Given the description of an element on the screen output the (x, y) to click on. 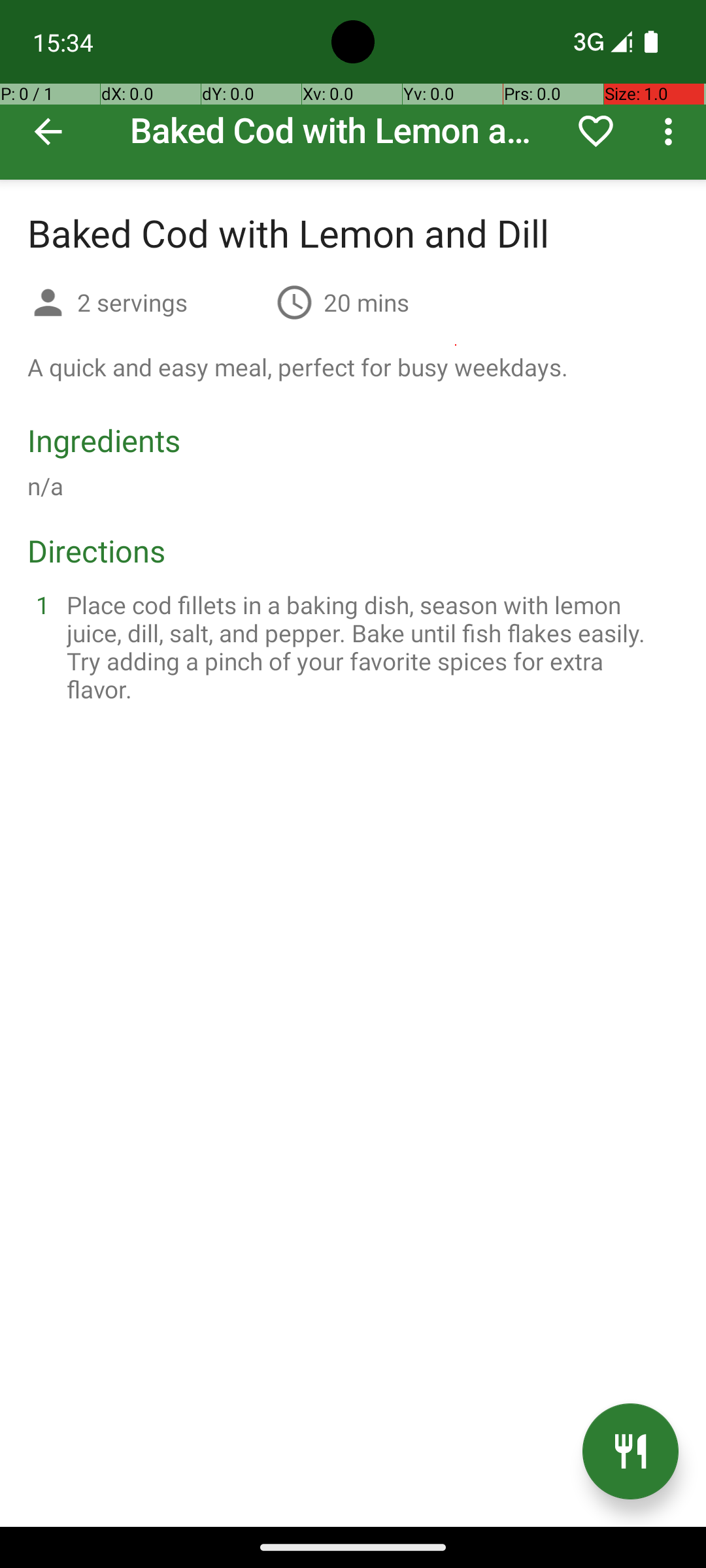
n/a Element type: android.widget.TextView (45, 485)
Place cod fillets in a baking dish, season with lemon juice, dill, salt, and pepper. Bake until fish flakes easily. Try adding a pinch of your favorite spices for extra flavor. Element type: android.widget.TextView (368, 646)
